Given the description of an element on the screen output the (x, y) to click on. 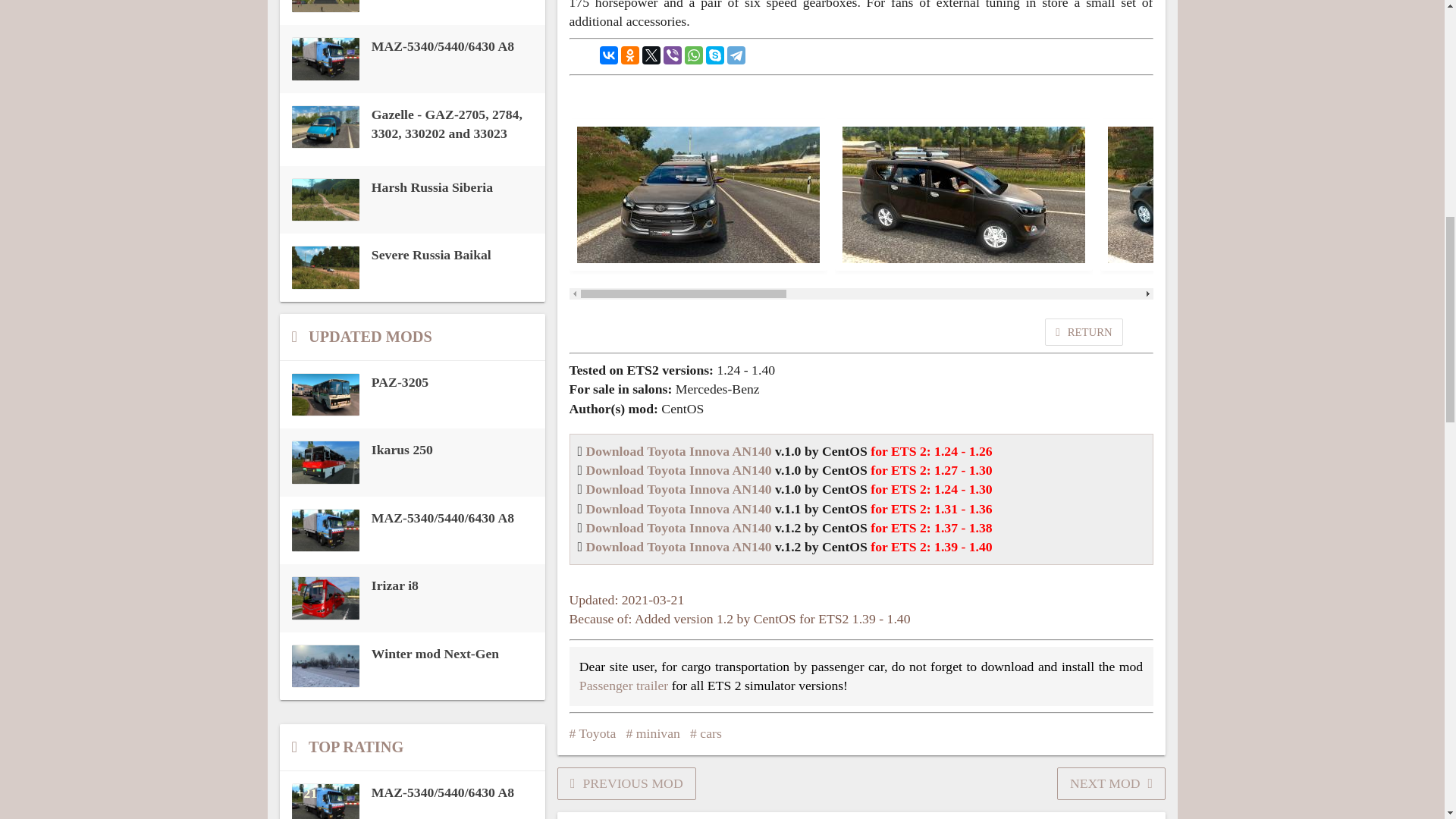
Severe Russia Baikal (411, 267)
Viewed 68 200 time (411, 58)
Ikarus 250 (411, 462)
PAZ-3205 (411, 394)
Gazelle - GAZ-2705, 2784, 3302, 330202 and 33023 (411, 129)
Winter mod Next-Gen (411, 666)
Irizar i8 (411, 597)
Viewed 59 351 time (411, 129)
Viewed 75 221 time (411, 6)
Russian map - RusMap (411, 6)
Viewed 58 416 time (411, 199)
Harsh Russia Siberia (411, 199)
